Given the description of an element on the screen output the (x, y) to click on. 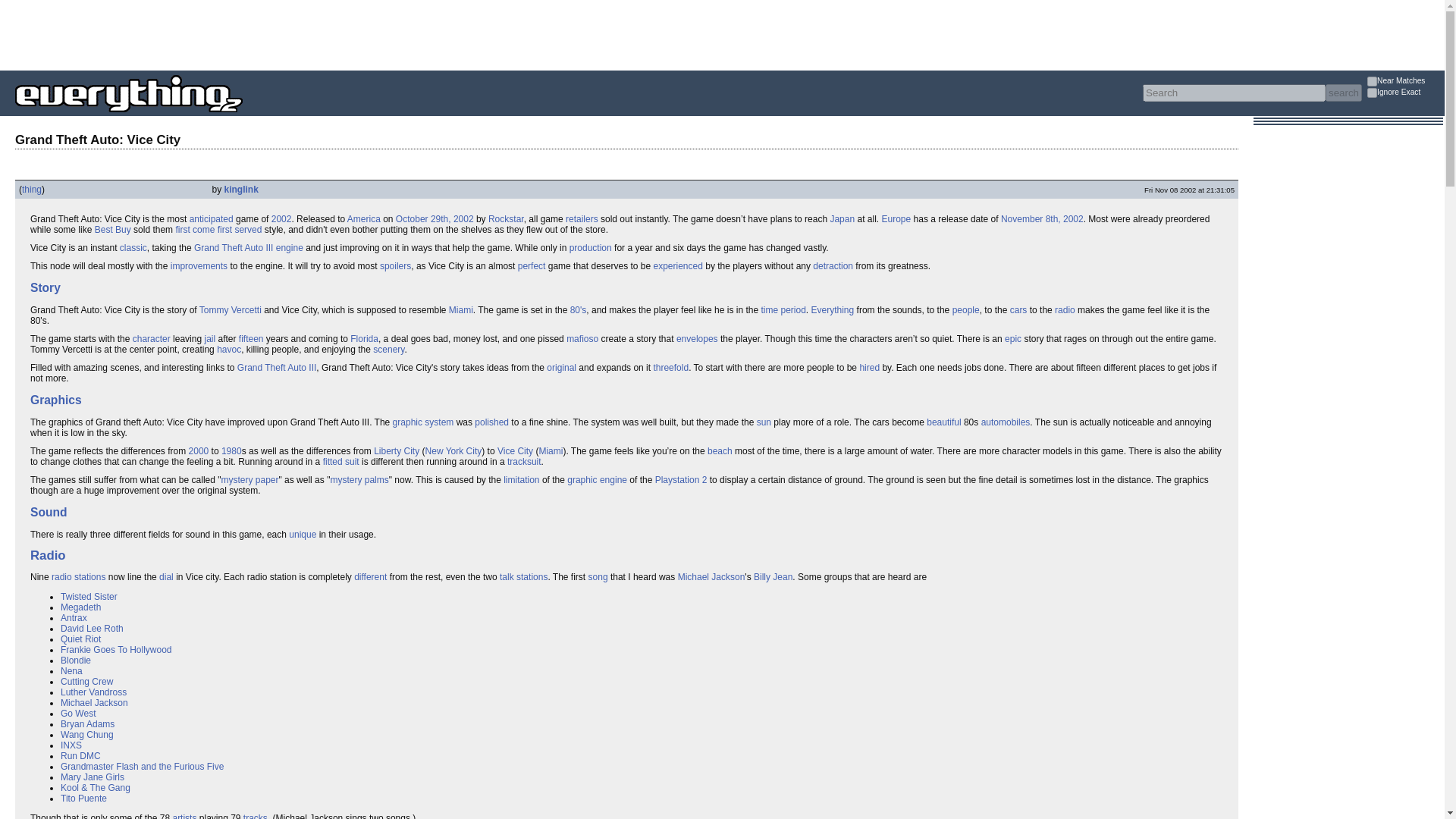
cars (1018, 309)
radio (1064, 309)
fifteen (250, 338)
Everything (832, 309)
mafioso (582, 338)
retailers (582, 218)
Story (45, 287)
anticipated (210, 218)
Grand Theft Auto III (233, 247)
classic (133, 247)
